Given the description of an element on the screen output the (x, y) to click on. 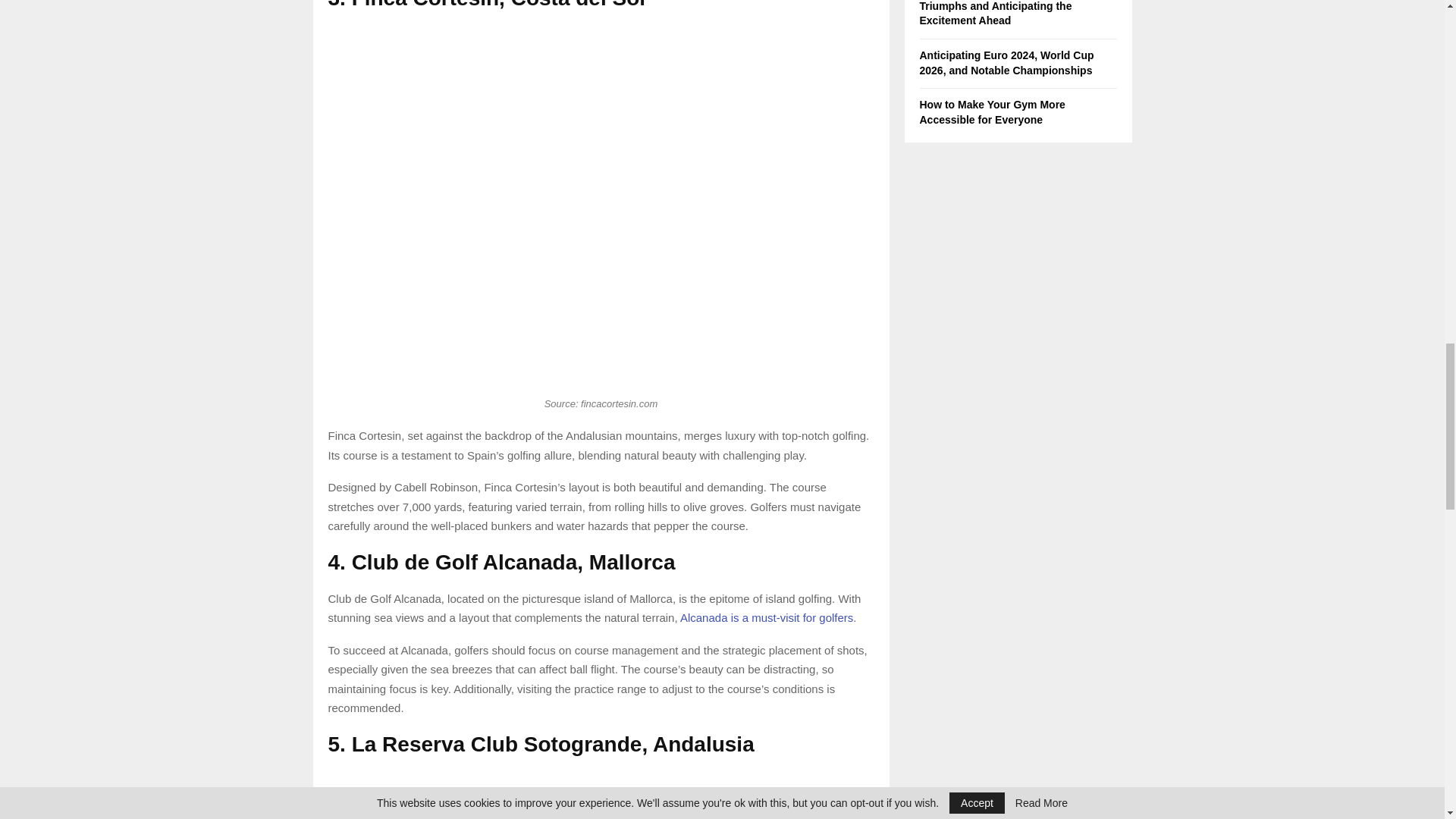
Alcanada is a must-visit for golfers (766, 617)
